Given the description of an element on the screen output the (x, y) to click on. 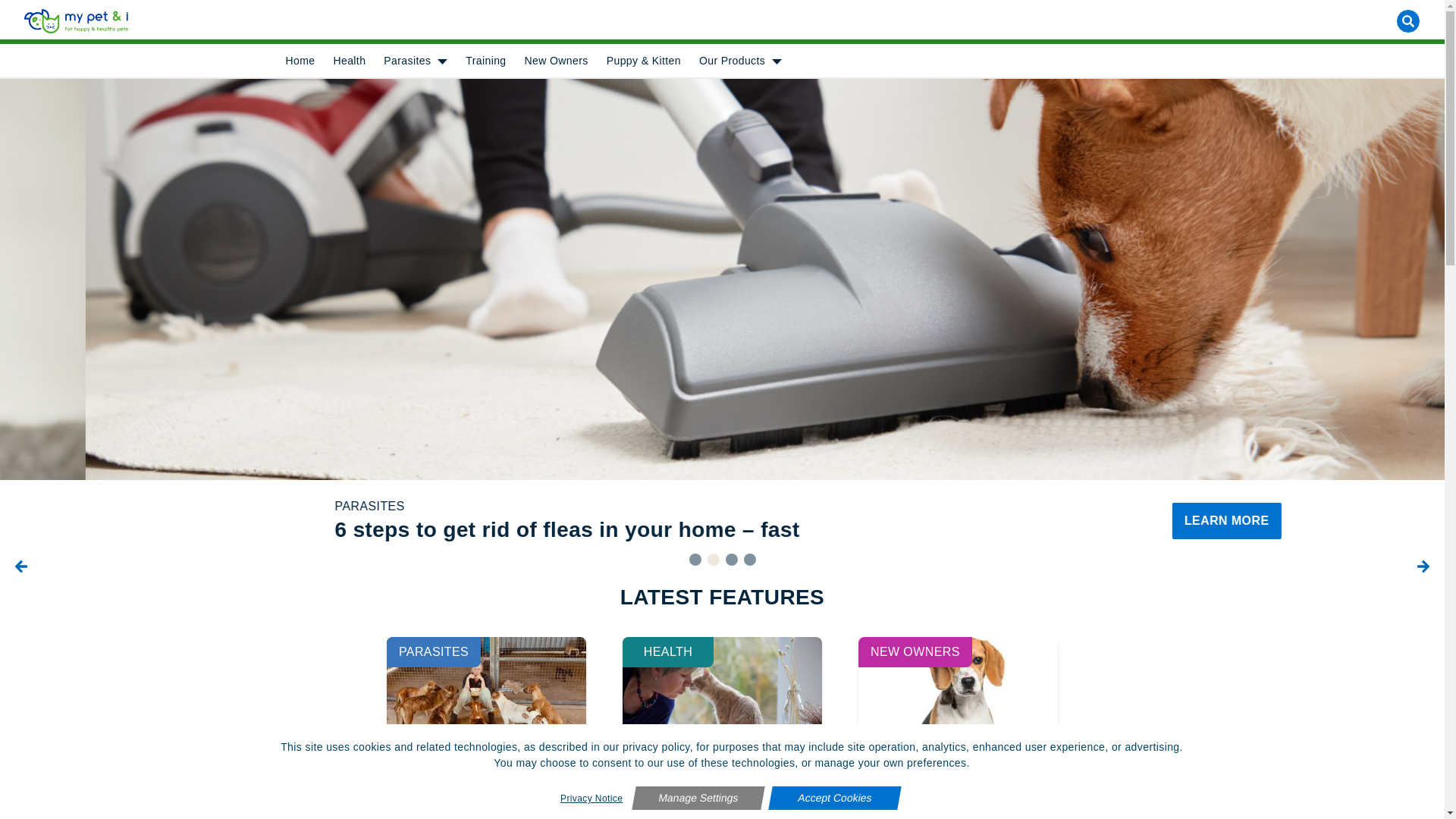
2 Element type: text (712, 559)
3 Element type: text (730, 559)
HEALTH Element type: text (667, 651)
FIND A STORE Element type: text (544, 794)
1 Element type: text (694, 559)
Breed profile: Beagle Element type: text (955, 795)
LEARN MORE Element type: text (1140, 520)
Our Products Element type: text (732, 60)
Parasites Element type: text (406, 60)
BUY ONLINE Element type: text (898, 794)
Search button Element type: hover (1408, 21)
NEW OWNERS Element type: text (915, 651)
PARASITES Element type: text (433, 651)
PARASITES Element type: text (480, 506)
FIND A VET Element type: text (189, 794)
Home Element type: text (299, 60)
Privacy Notice Element type: text (591, 798)
New Owners Element type: text (556, 60)
Accept Cookies Element type: text (832, 797)
Health Element type: text (348, 60)
Puppy & Kitten Element type: text (643, 60)
4 Element type: text (749, 559)
OUR PRODUCTS Element type: text (1254, 794)
Training Element type: text (485, 60)
Manage Settings Element type: text (695, 797)
